Given the description of an element on the screen output the (x, y) to click on. 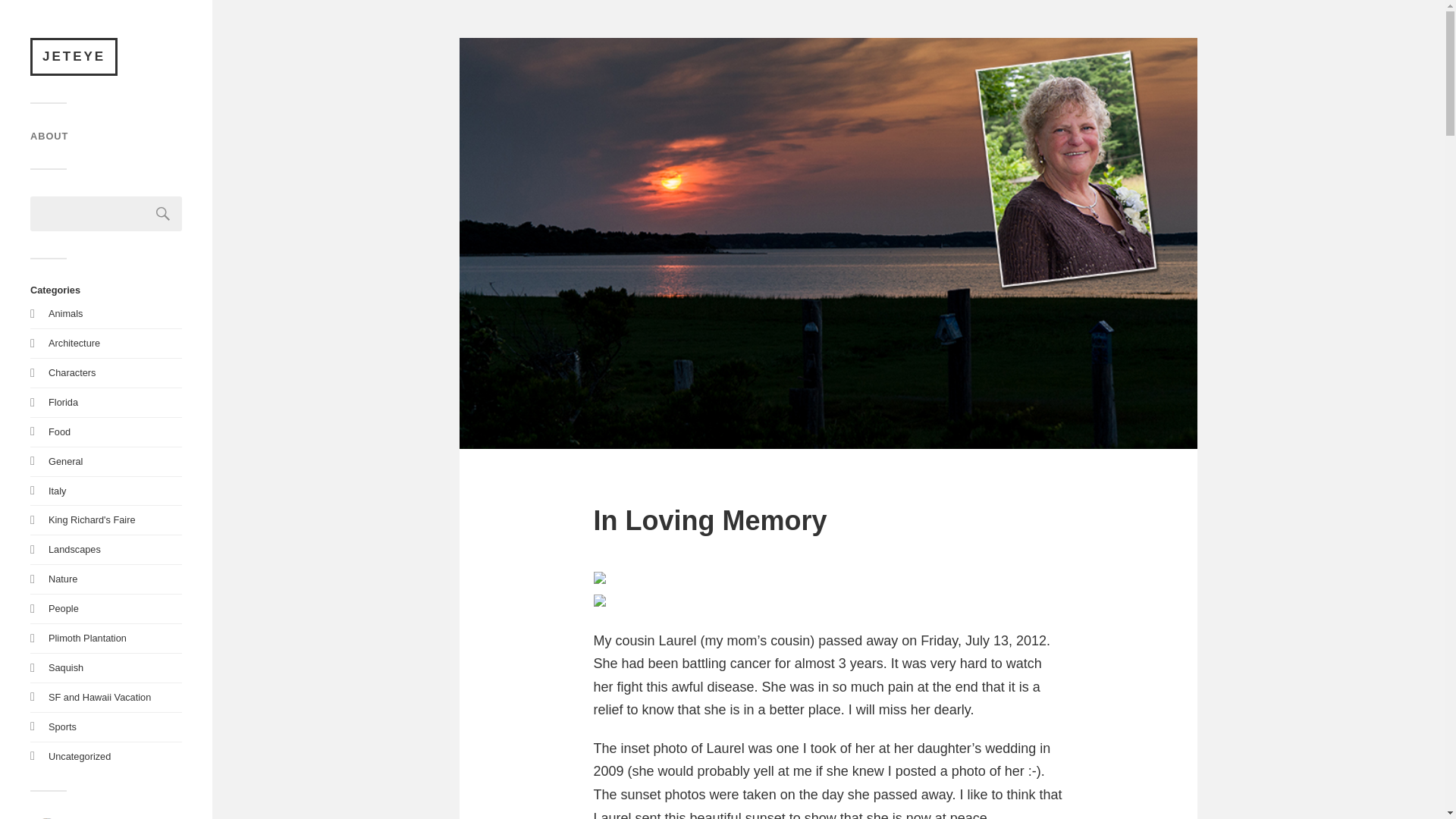
Italy (56, 490)
Search (163, 213)
Sports (62, 726)
Nature (62, 578)
General (65, 460)
Saquish (65, 667)
JETEYE (73, 56)
Search (163, 213)
Food (58, 431)
Characters (72, 372)
SF and Hawaii Vacation (99, 696)
Architecture (74, 342)
Plimoth Plantation (87, 637)
